Given the description of an element on the screen output the (x, y) to click on. 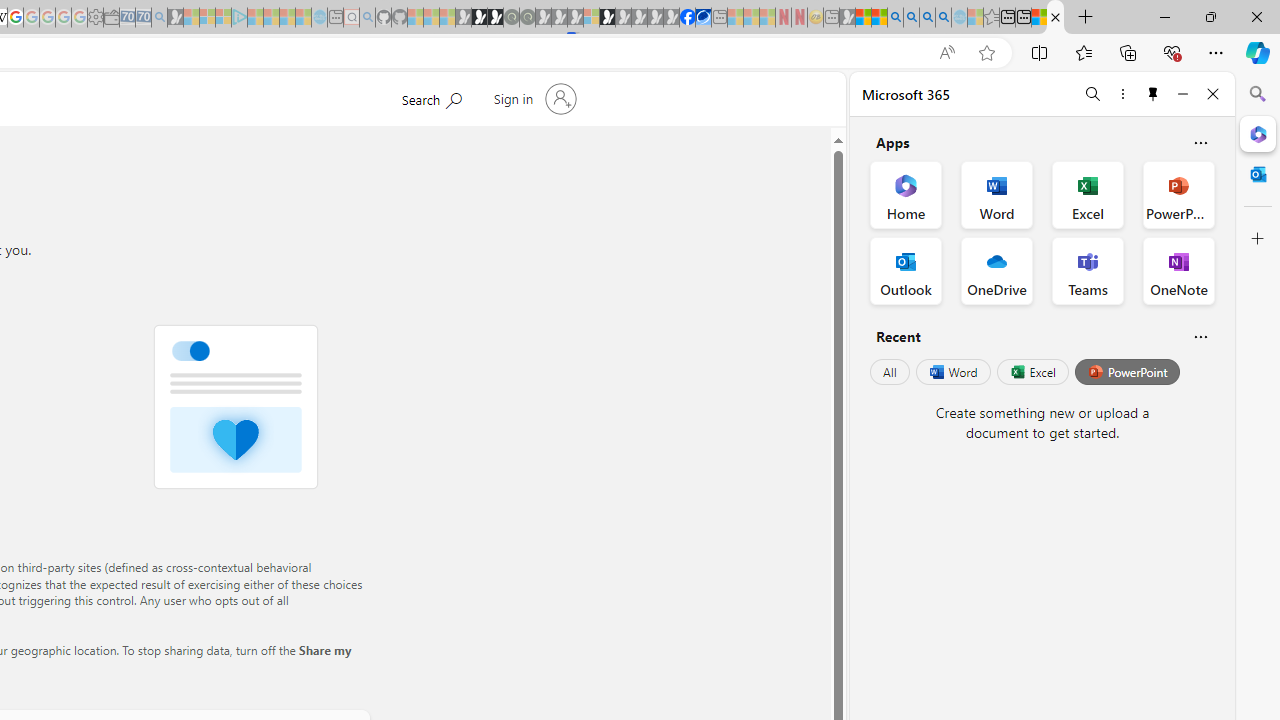
Close Microsoft 365 pane (1258, 133)
Home Office App (906, 194)
Word (952, 372)
Search Microsoft.com (431, 97)
Word Office App (996, 194)
